Given the description of an element on the screen output the (x, y) to click on. 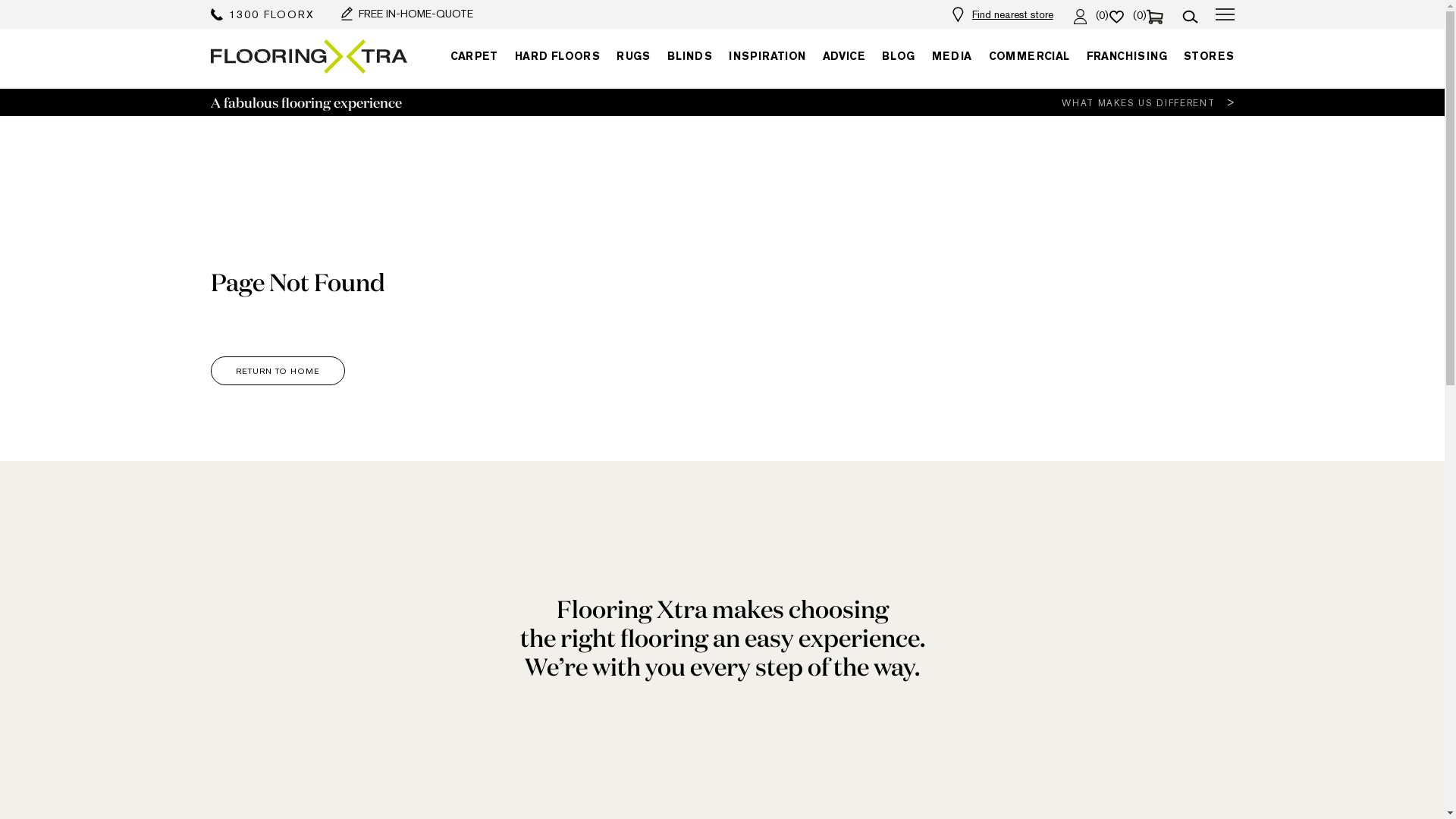
1300 FLOORX Element type: text (262, 14)
CARPET Element type: text (473, 55)
WHAT MAKES US DIFFERENT Element type: text (1147, 101)
COMMERCIAL Element type: text (1029, 55)
BLOG Element type: text (898, 55)
FRANCHISING Element type: text (1126, 55)
STORES Element type: text (1208, 55)
HARD FLOORS Element type: text (556, 55)
ADVICE Element type: text (843, 55)
MEDIA Element type: text (951, 55)
RETURN TO HOME Element type: text (277, 370)
RUGS Element type: text (633, 55)
Find nearest store Element type: text (1012, 14)
BLINDS Element type: text (689, 55)
0 Element type: text (1115, 13)
INSPIRATION Element type: text (766, 55)
FREE IN-HOME-QUOTE Element type: text (407, 13)
